Given the description of an element on the screen output the (x, y) to click on. 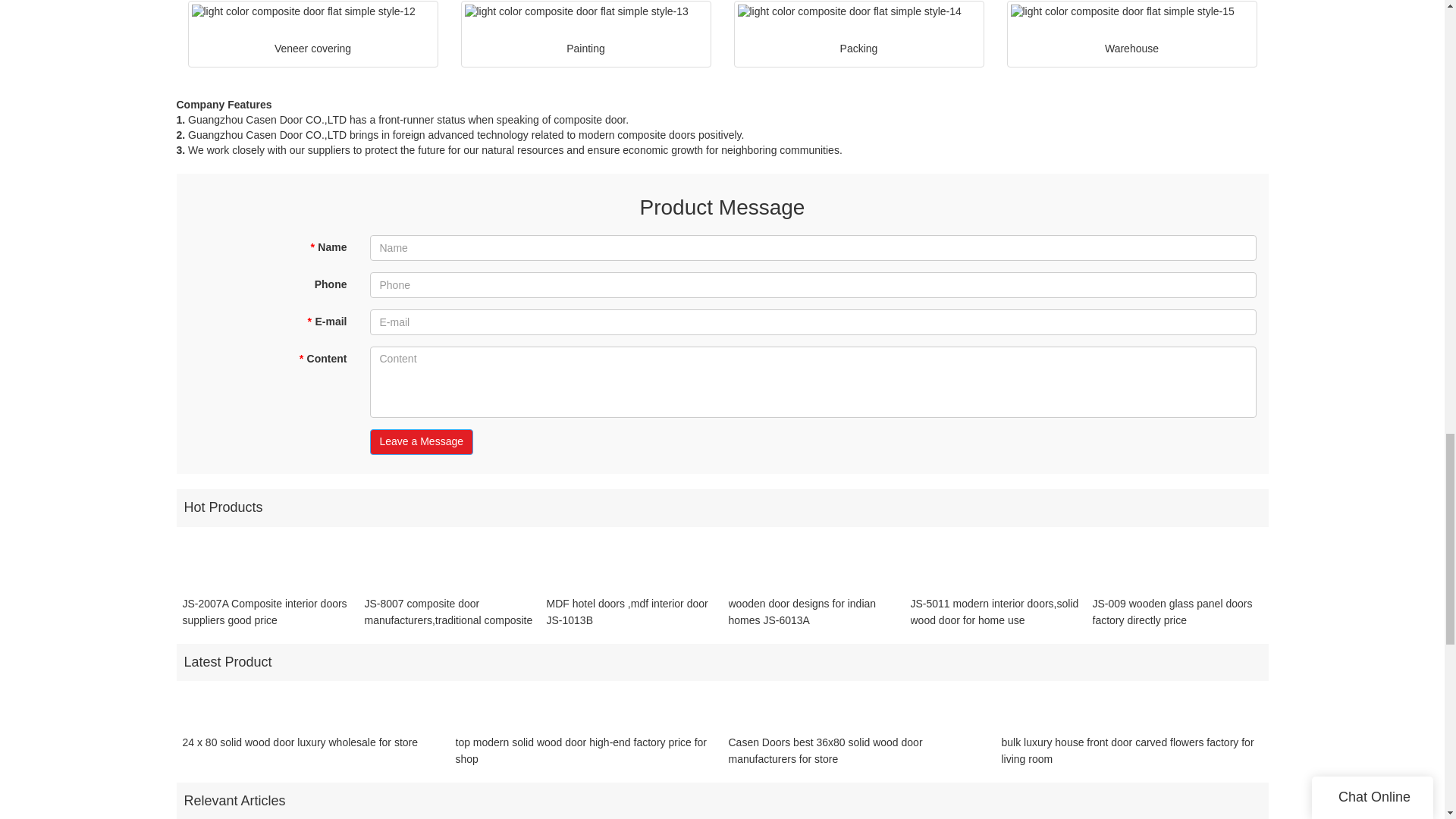
JS-2007A Composite interior doors suppliers good price (267, 611)
Leave a Message (421, 442)
MDF hotel doors ,mdf interior door JS-1013B (631, 611)
wooden door designs for indian homes JS-6013A (813, 611)
JS-5011  modern interior doors,solid wood door for home use (995, 611)
